Given the description of an element on the screen output the (x, y) to click on. 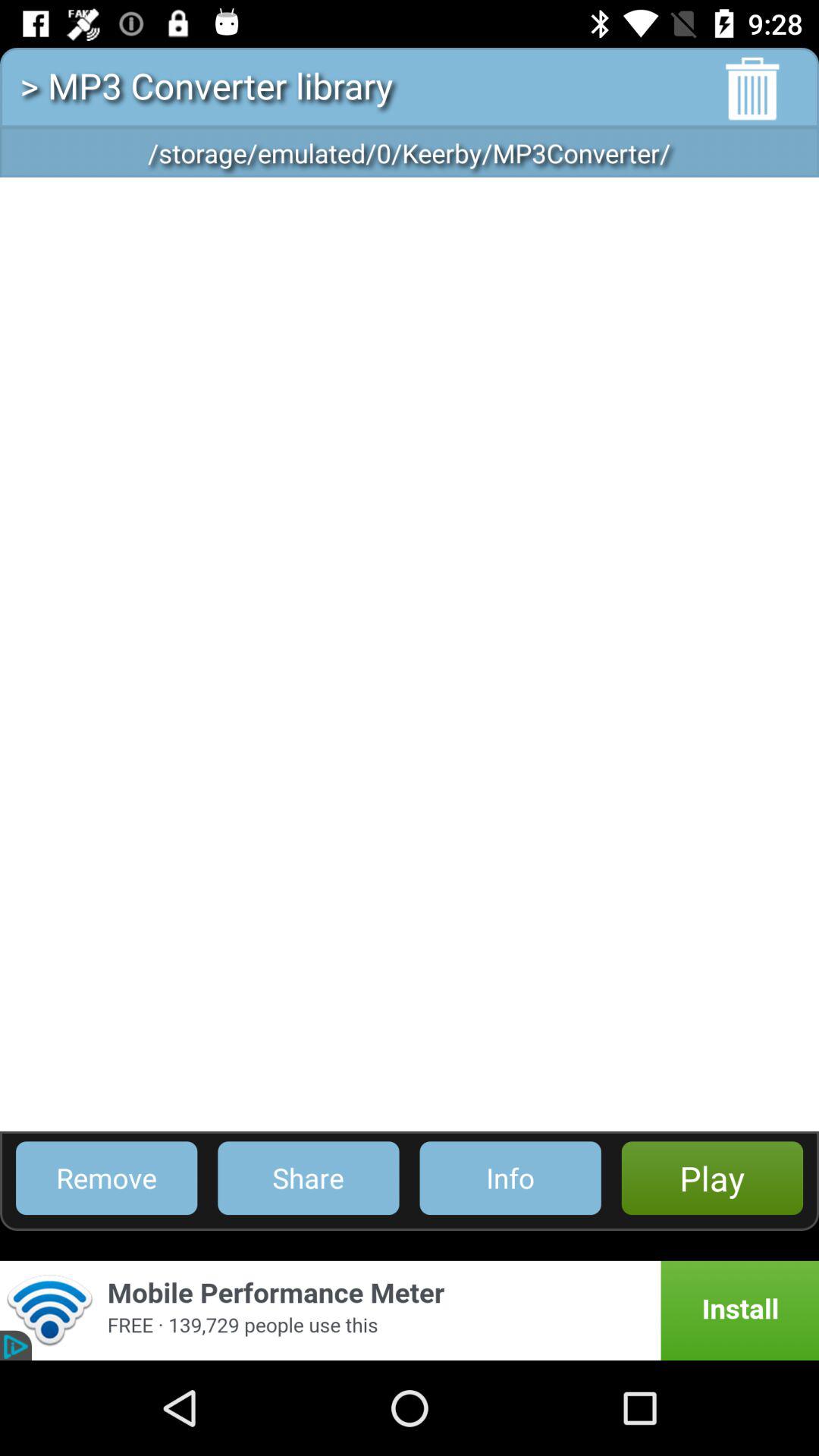
turn off the app to the left of info icon (308, 1177)
